Given the description of an element on the screen output the (x, y) to click on. 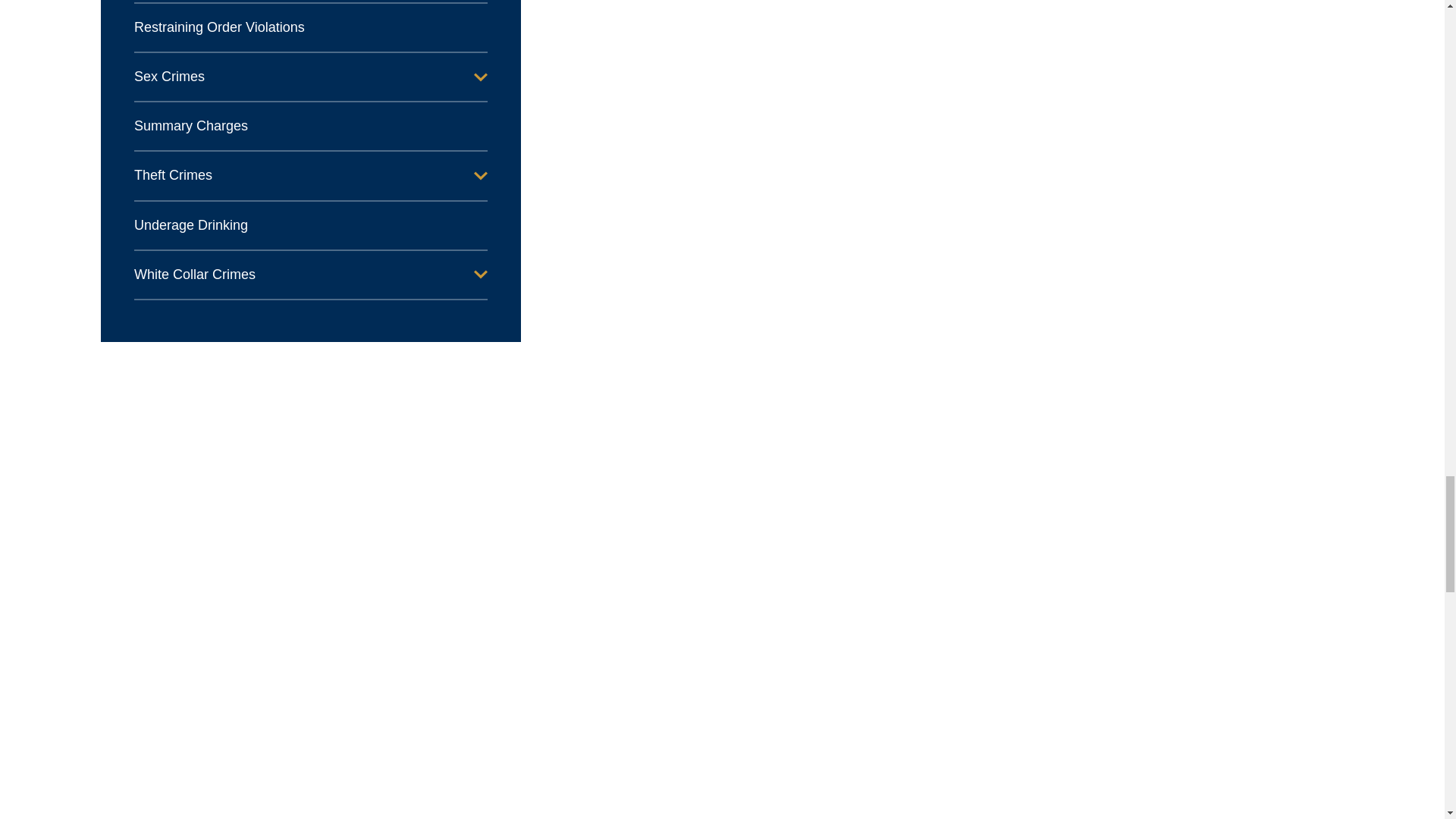
Open child menu of Sex Crimes (480, 77)
